Given the description of an element on the screen output the (x, y) to click on. 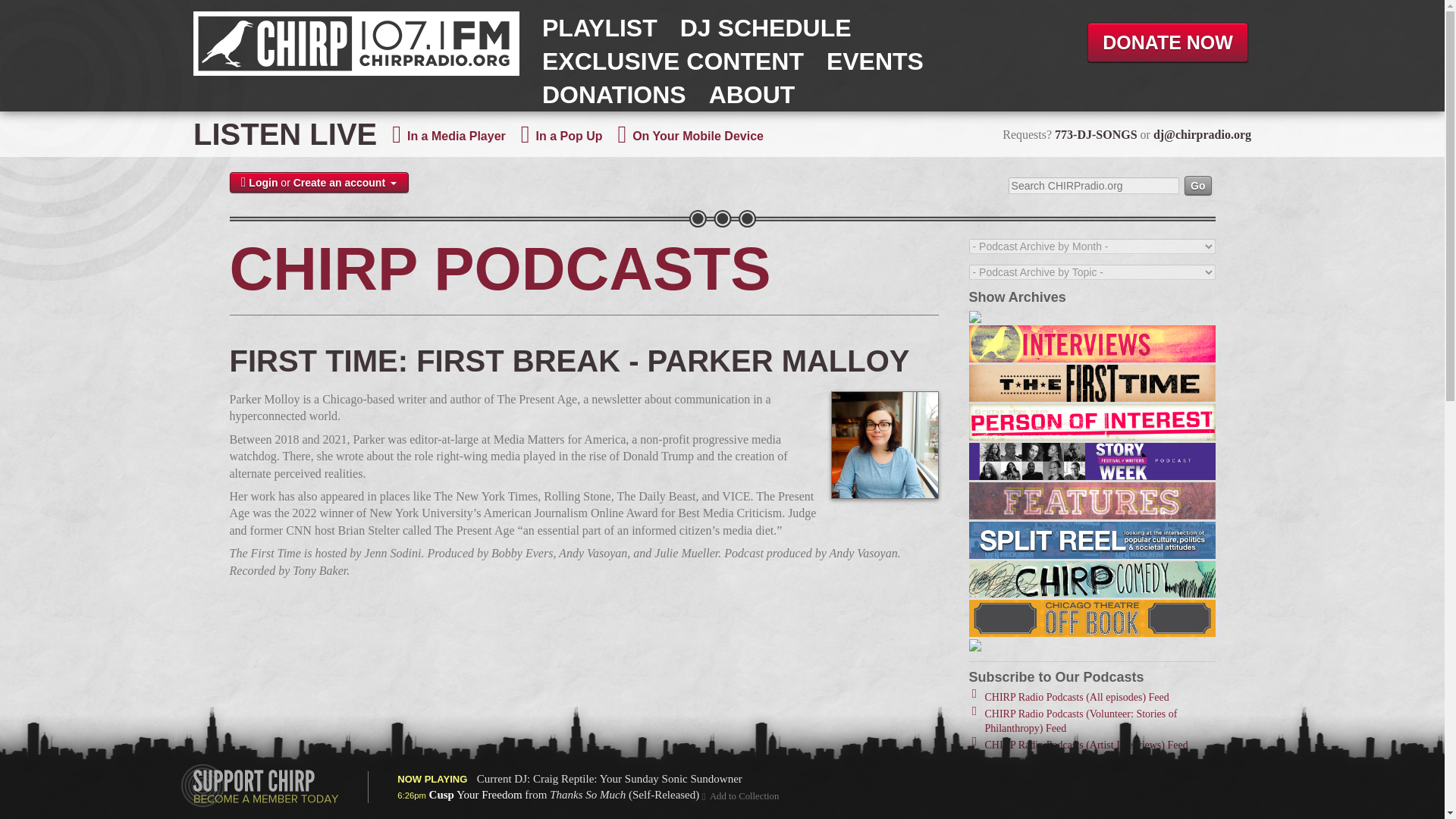
Add to Collection (739, 796)
In a Media Player (456, 135)
CHIRP RADIO (356, 43)
EVENTS (875, 61)
On Your Mobile Device (697, 135)
EXCLUSIVE CONTENT (672, 61)
PLAYLIST (599, 28)
DJ SCHEDULE (765, 28)
ABOUT (751, 94)
DONATIONS (613, 94)
Become a Member (259, 785)
DONATE NOW (1167, 42)
Login or Create an account (317, 181)
In a Pop Up (569, 135)
Go (1198, 185)
